Given the description of an element on the screen output the (x, y) to click on. 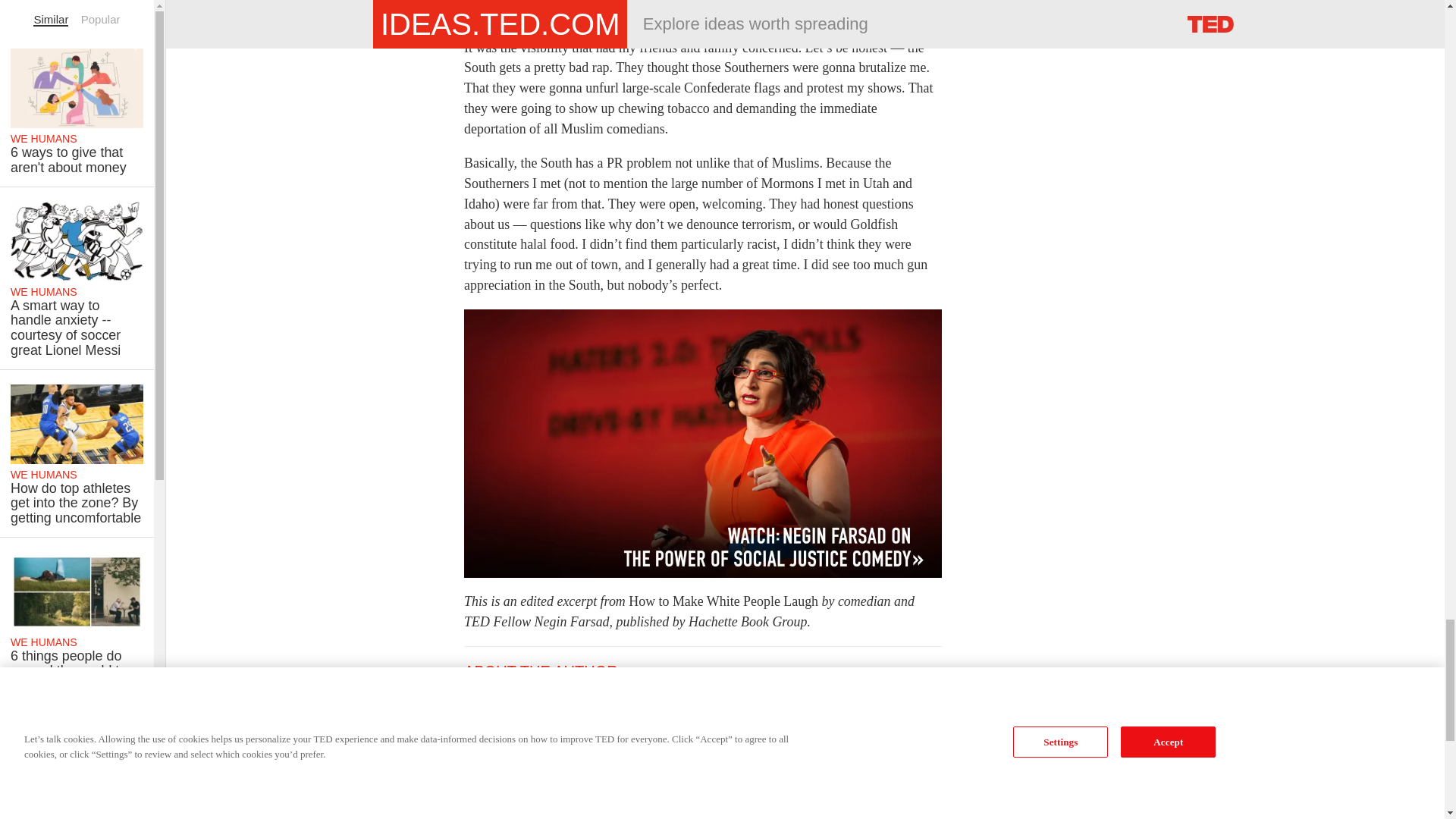
blog (537, 810)
America (491, 810)
comedy (582, 810)
Islam (714, 810)
Negin Farsad (835, 810)
Iran (677, 810)
Muslims (765, 810)
society (904, 810)
culture (635, 810)
Negin Farsad (496, 695)
